Given the description of an element on the screen output the (x, y) to click on. 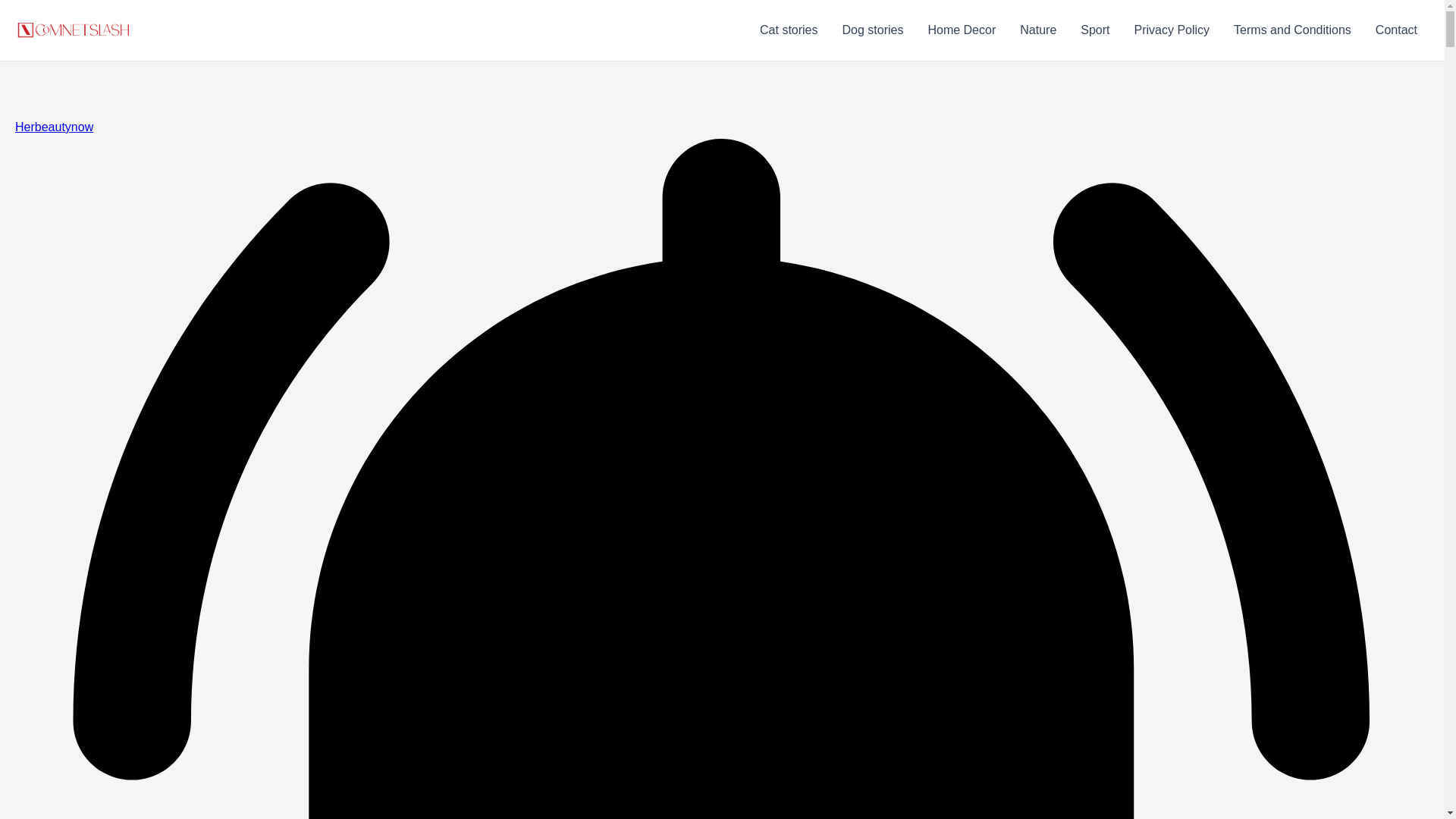
Terms and Conditions (1291, 30)
Privacy Policy (1172, 30)
Contact (1395, 30)
Nature (1037, 30)
Dog stories (872, 30)
Cat stories (788, 30)
Home Decor (961, 30)
